Given the description of an element on the screen output the (x, y) to click on. 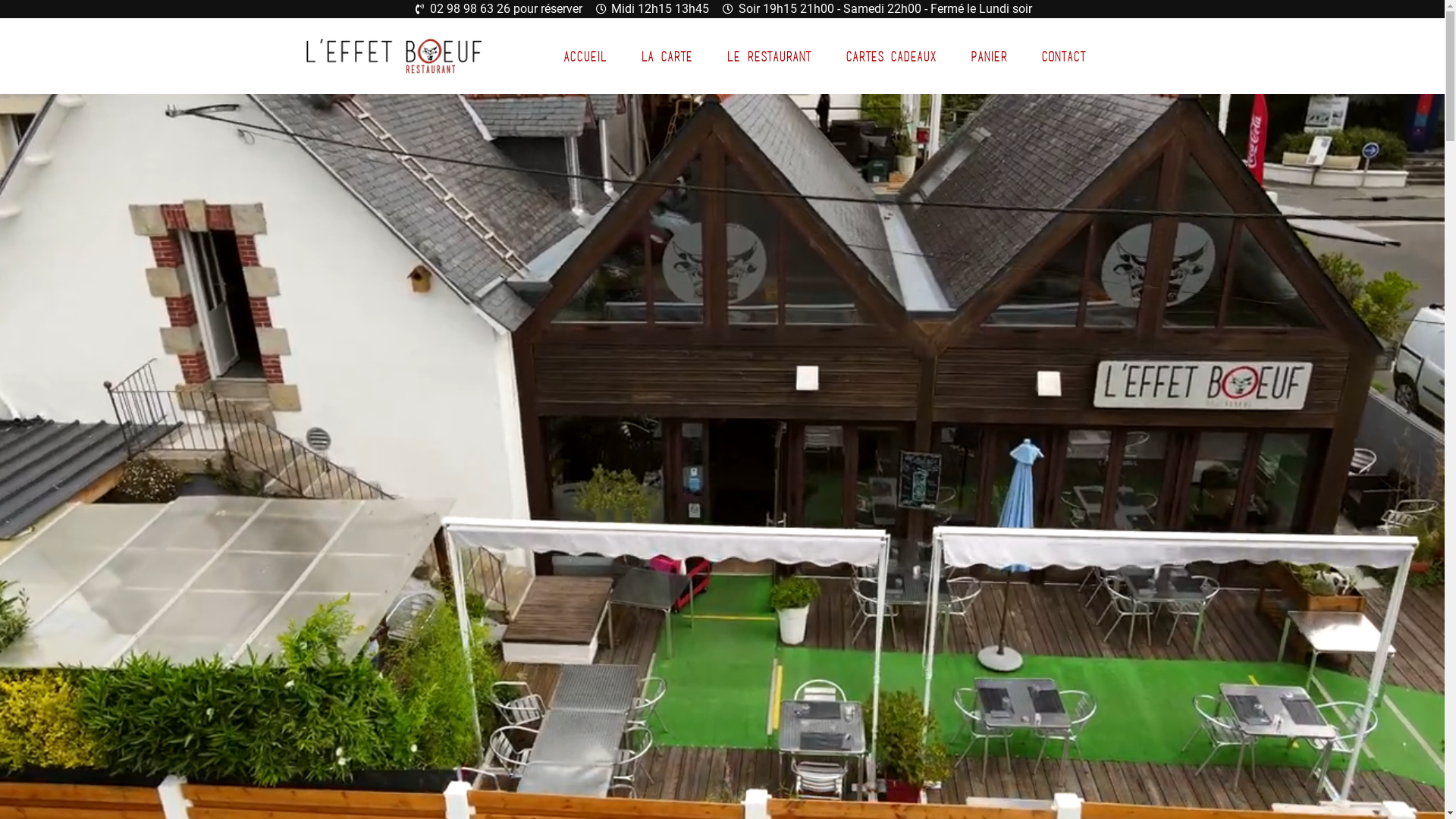
CARTES CADEAUX Element type: text (890, 55)
LE RESTAURANT Element type: text (768, 55)
ACCUEIL Element type: text (584, 55)
PANIER Element type: text (988, 55)
CONTACT Element type: text (1063, 55)
LA CARTE Element type: text (666, 55)
